Given the description of an element on the screen output the (x, y) to click on. 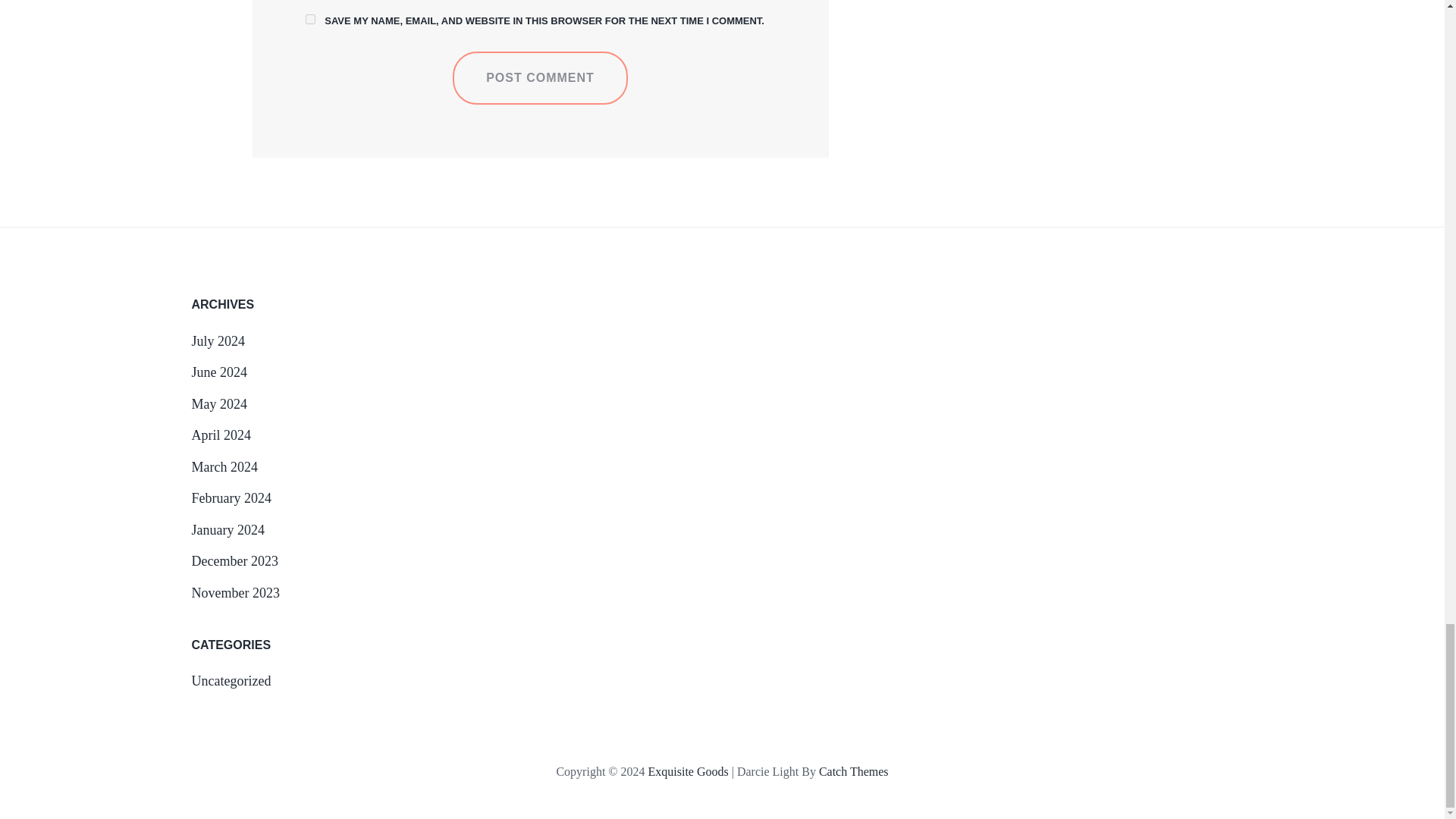
May 2024 (218, 403)
July 2024 (217, 340)
April 2024 (220, 435)
March 2024 (223, 467)
Post Comment (539, 77)
June 2024 (218, 372)
December 2023 (234, 560)
yes (309, 19)
February 2024 (230, 498)
January 2024 (226, 529)
